Given the description of an element on the screen output the (x, y) to click on. 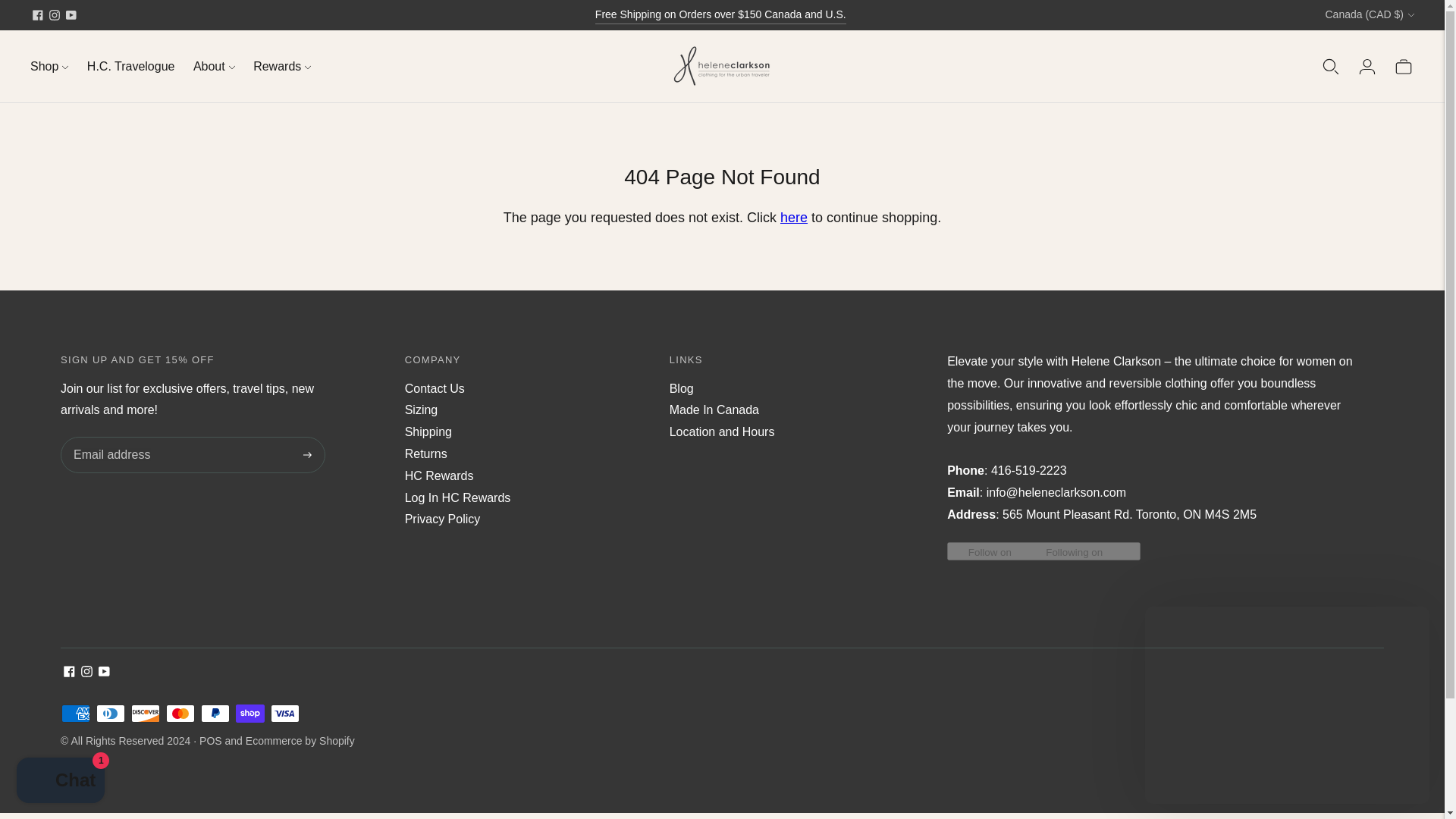
Helene Clarkson Design on YouTube (71, 14)
Smile.io Rewards Program Prompt (1286, 704)
Helene Clarkson Design on Instagram (54, 14)
Shopify online store chat (60, 781)
Helene Clarkson Design on Facebook (37, 14)
